Given the description of an element on the screen output the (x, y) to click on. 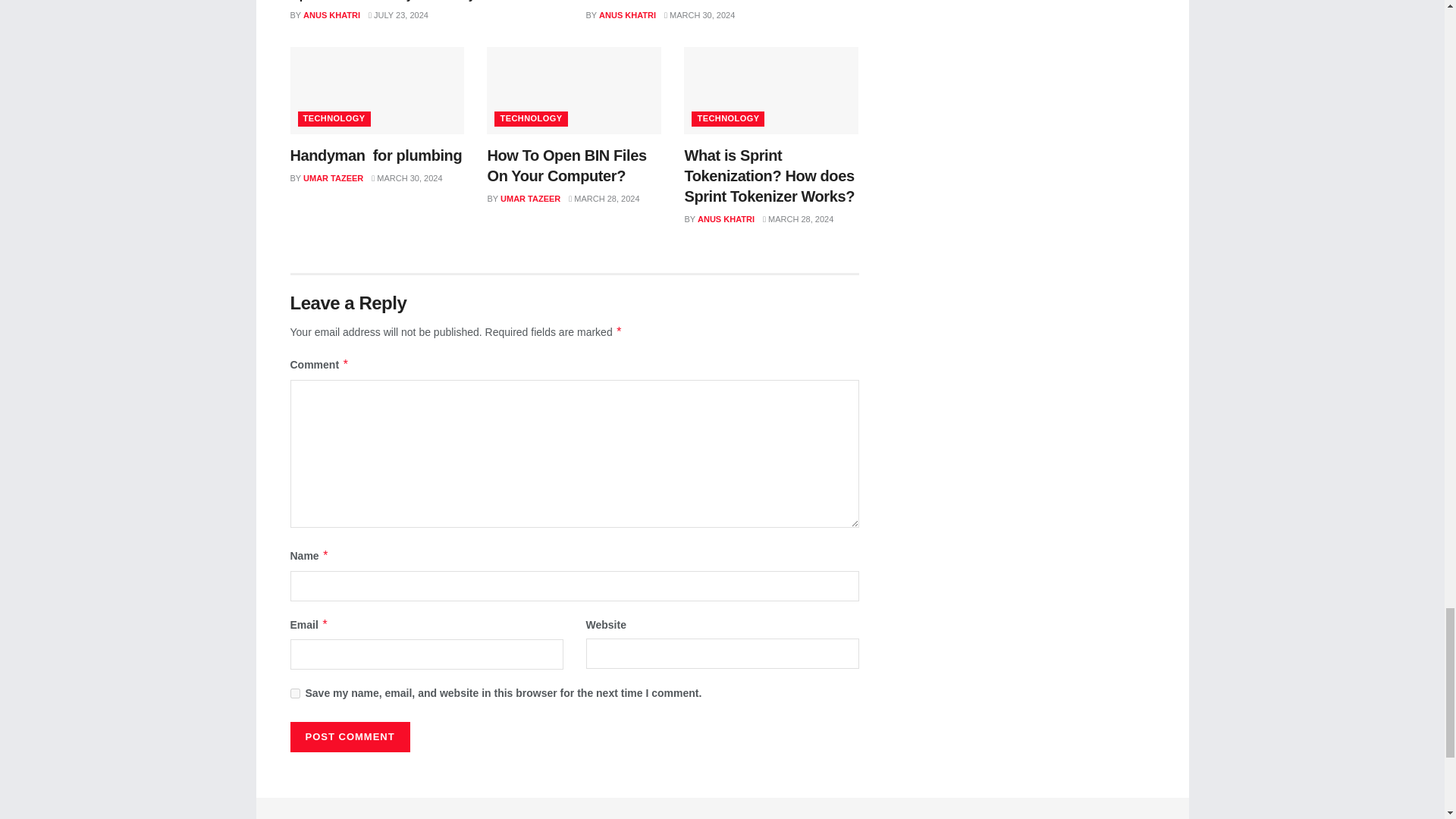
Post Comment (349, 736)
yes (294, 693)
